Given the description of an element on the screen output the (x, y) to click on. 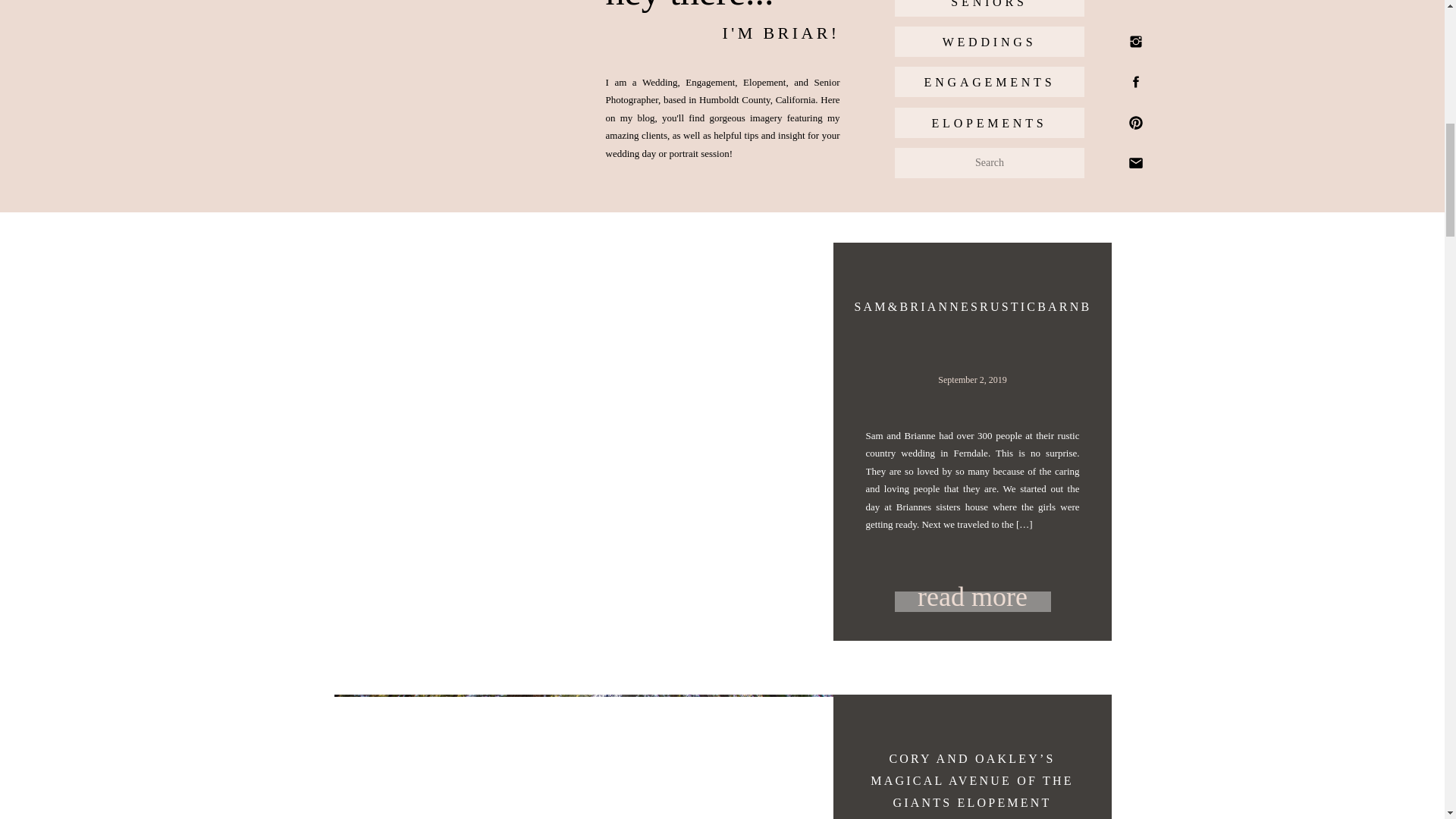
WEDDINGS (989, 41)
read more (973, 594)
ENGAGEMENTS (989, 81)
ELOPEMENTS (989, 122)
SENIORS (989, 5)
